Given the description of an element on the screen output the (x, y) to click on. 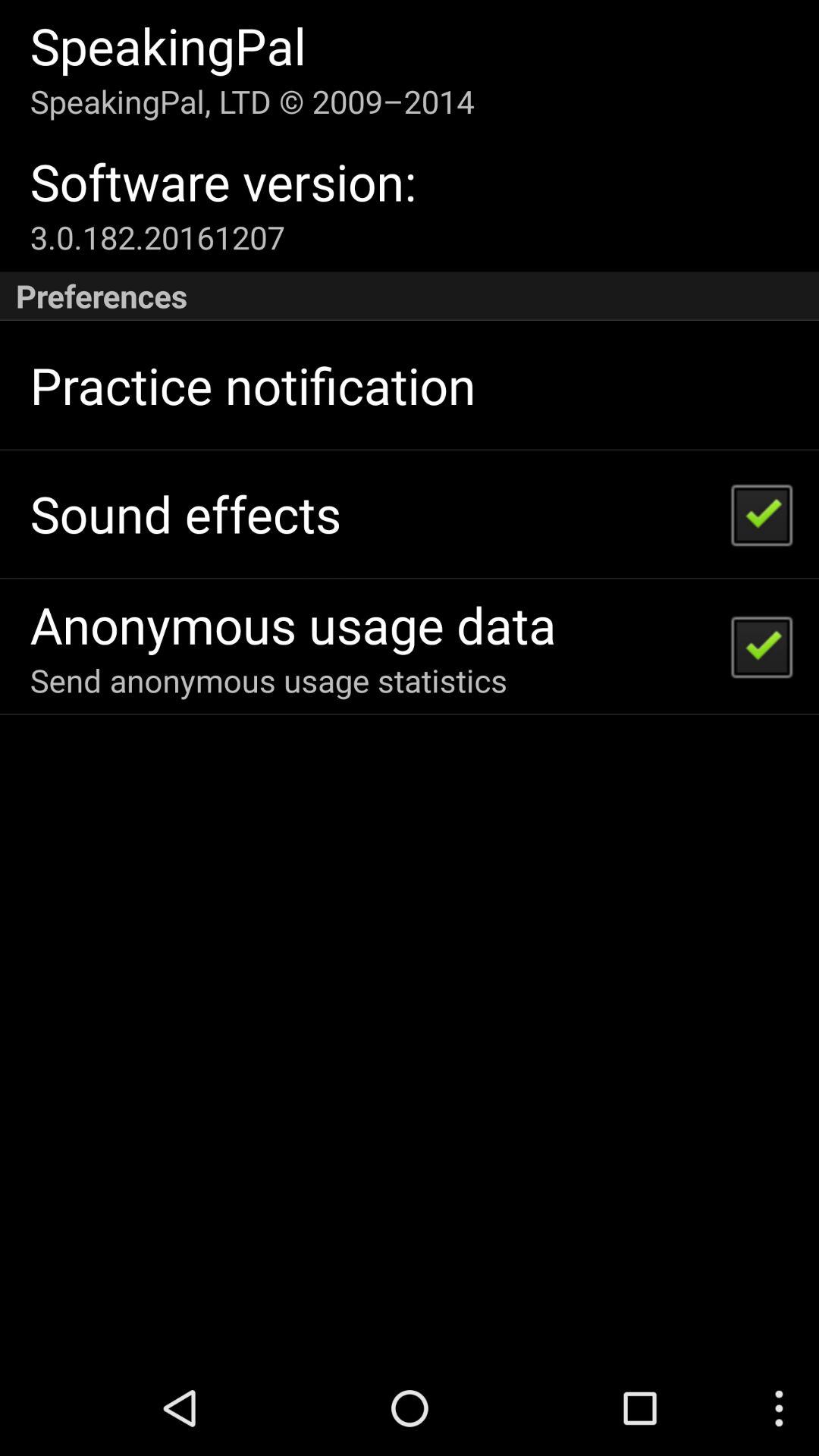
turn off item below the preferences (253, 385)
